Given the description of an element on the screen output the (x, y) to click on. 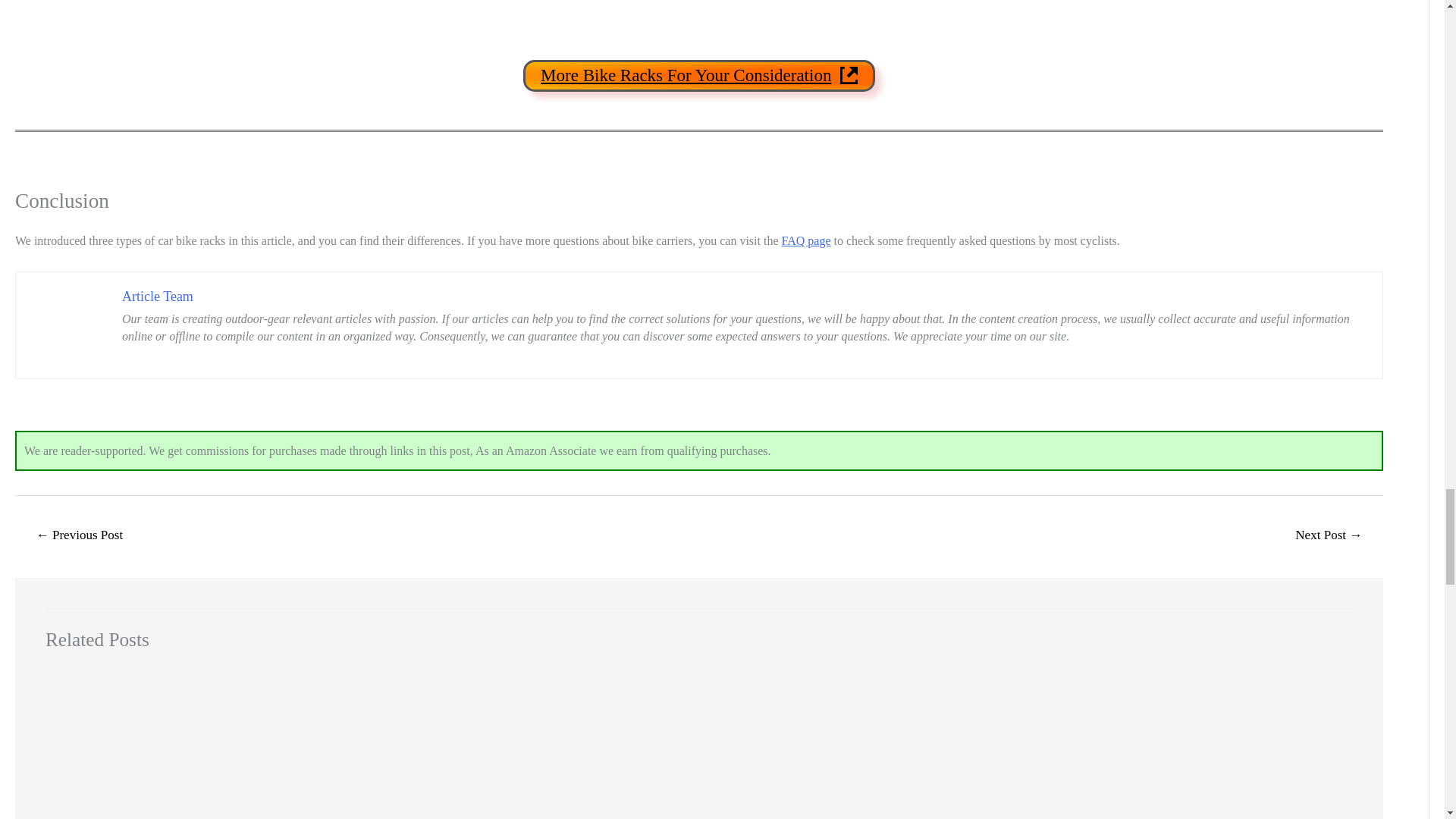
Article Team (157, 296)
How to Clean and Maintain Bike Racks (1328, 536)
More Bike Racks For Your Consideration (698, 74)
Must-Know Family Travel Tips For Better Vacationing (79, 536)
FAQ page (806, 240)
